Given the description of an element on the screen output the (x, y) to click on. 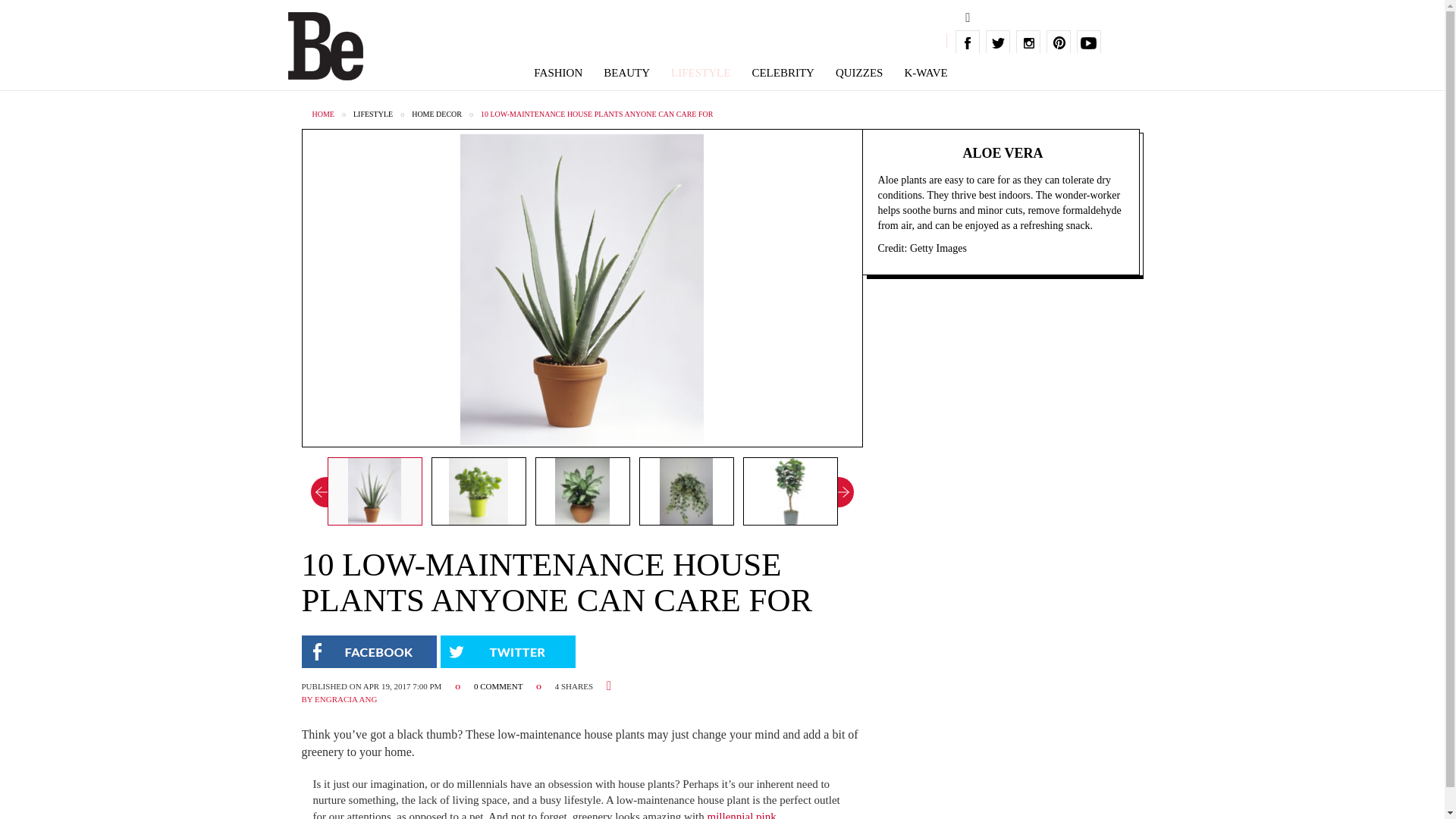
BEAUTY (626, 72)
0 COMMENT (499, 686)
CELEBRITY (782, 72)
LIFESTYLE (700, 72)
FASHION (558, 72)
